Given the description of an element on the screen output the (x, y) to click on. 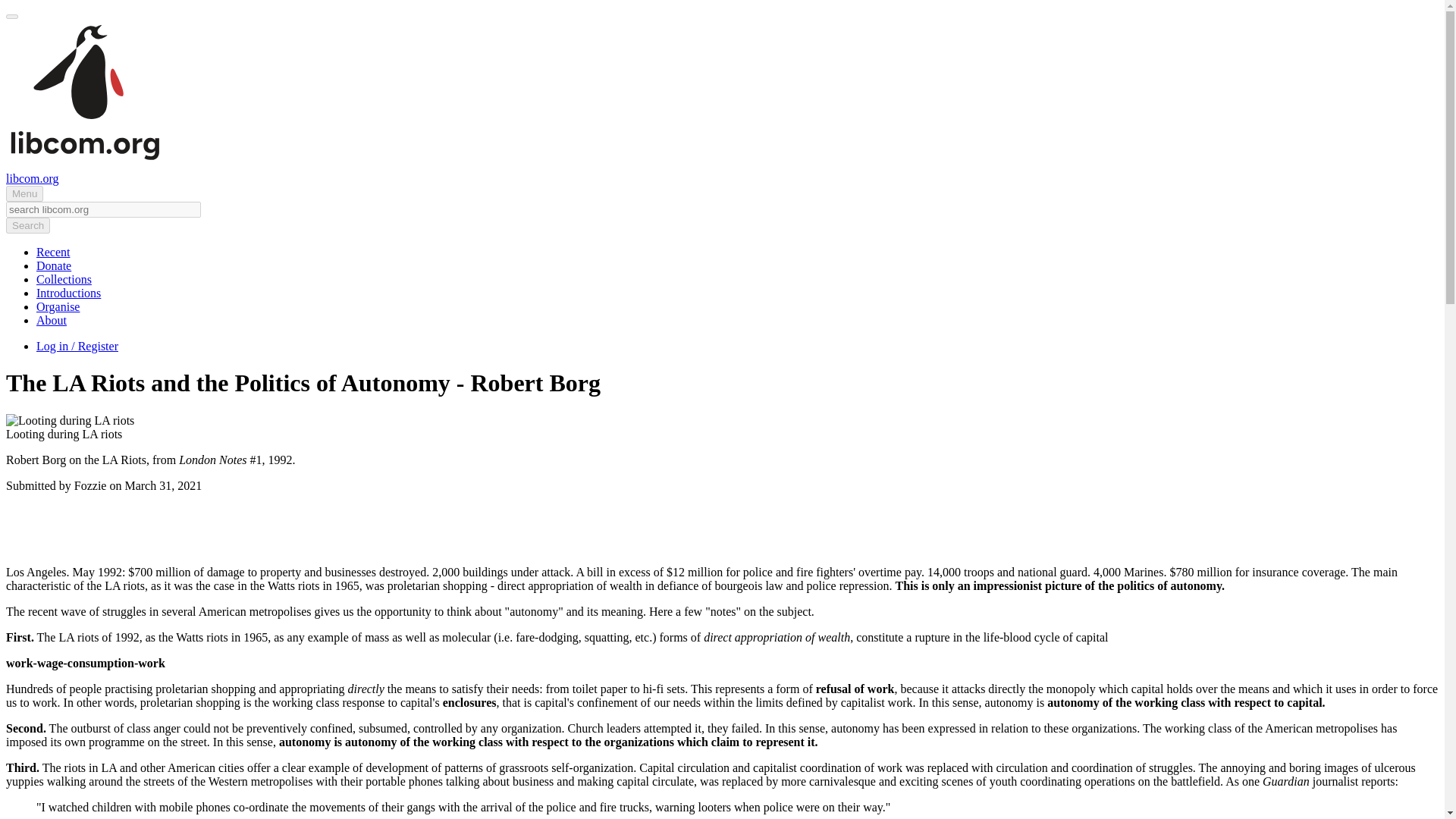
libcom.org (31, 178)
Search (27, 225)
Recent (52, 251)
About (51, 319)
Menu (24, 193)
Share to Facebook (675, 528)
Search (27, 225)
Donate (53, 265)
Share to Twitter (706, 528)
